Given the description of an element on the screen output the (x, y) to click on. 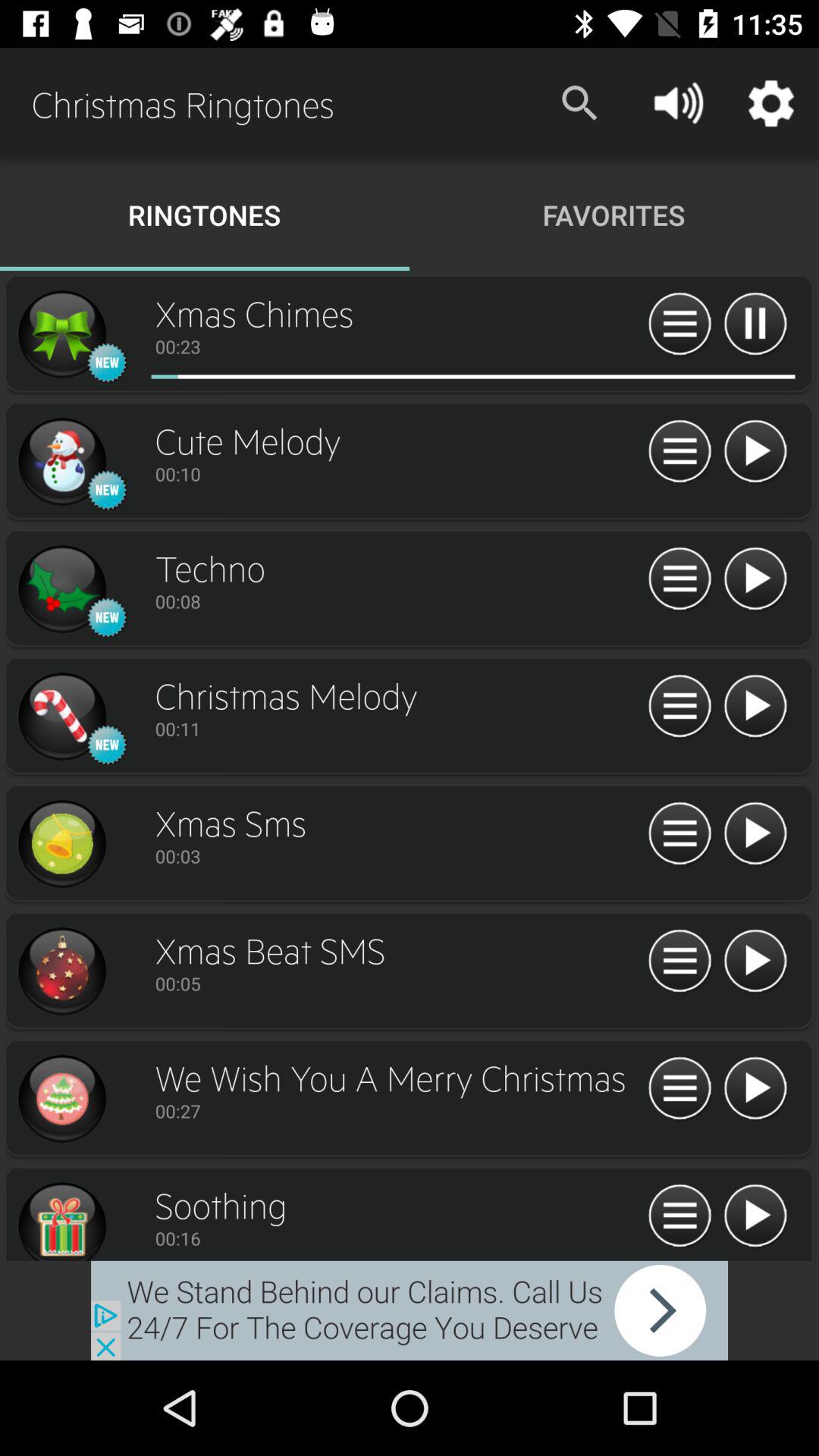
open menu (679, 579)
